Given the description of an element on the screen output the (x, y) to click on. 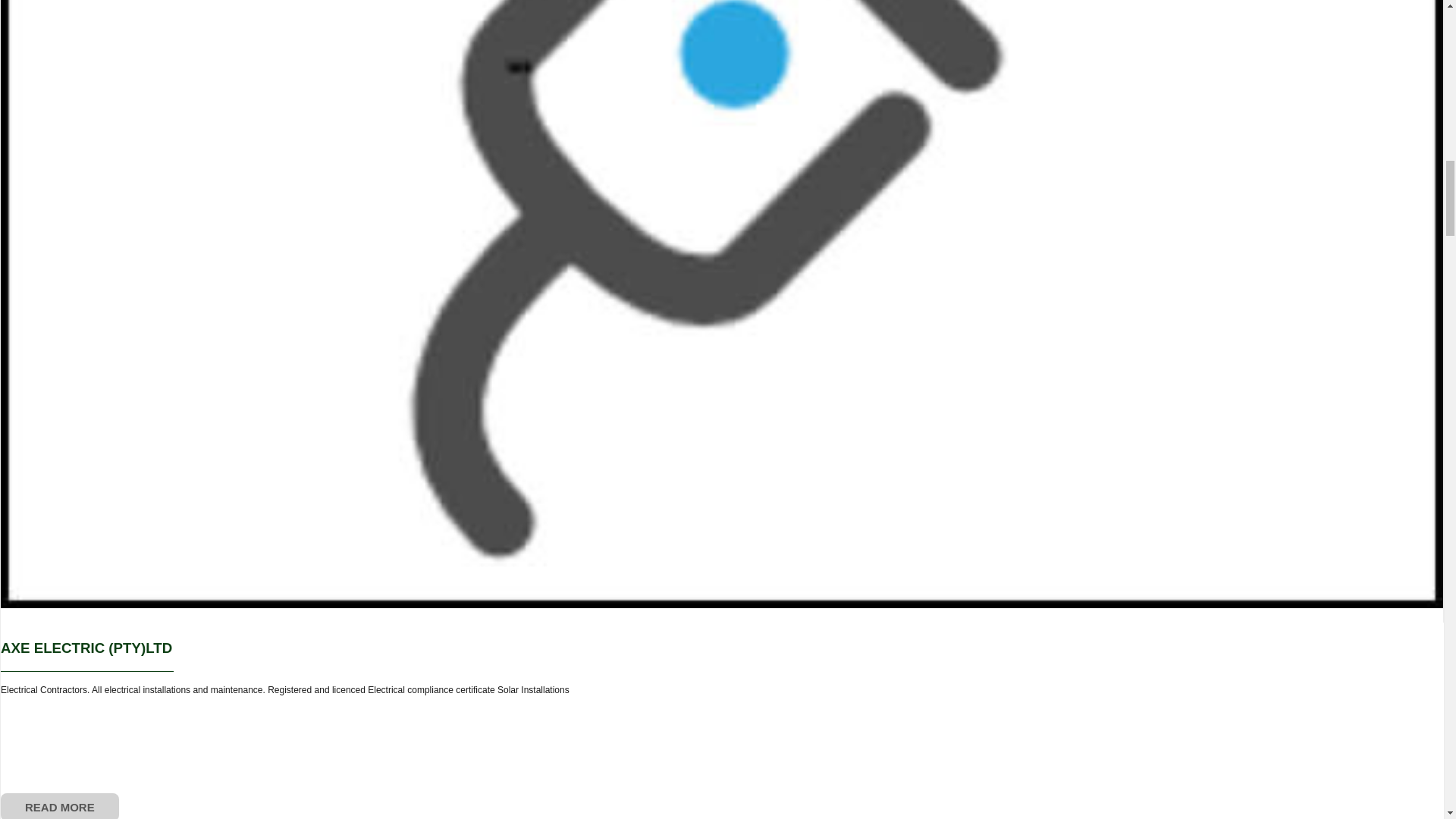
READ MORE (60, 806)
